Given the description of an element on the screen output the (x, y) to click on. 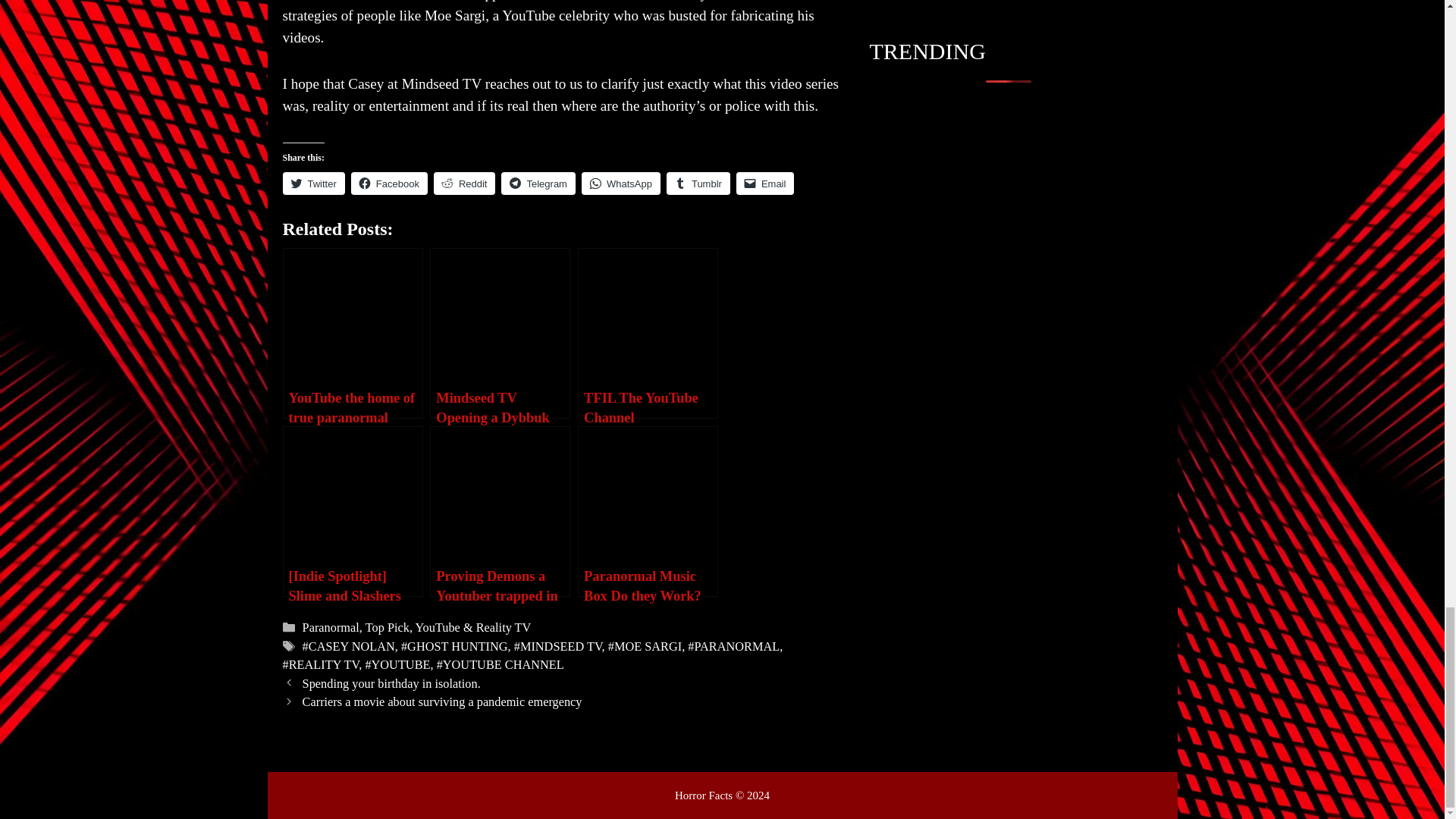
Click to share on WhatsApp (620, 182)
Click to share on Twitter (312, 182)
Click to email a link to a friend (765, 182)
Click to share on Tumblr (698, 182)
Click to share on Telegram (537, 182)
Click to share on Facebook (389, 182)
Click to share on Reddit (464, 182)
